Given the description of an element on the screen output the (x, y) to click on. 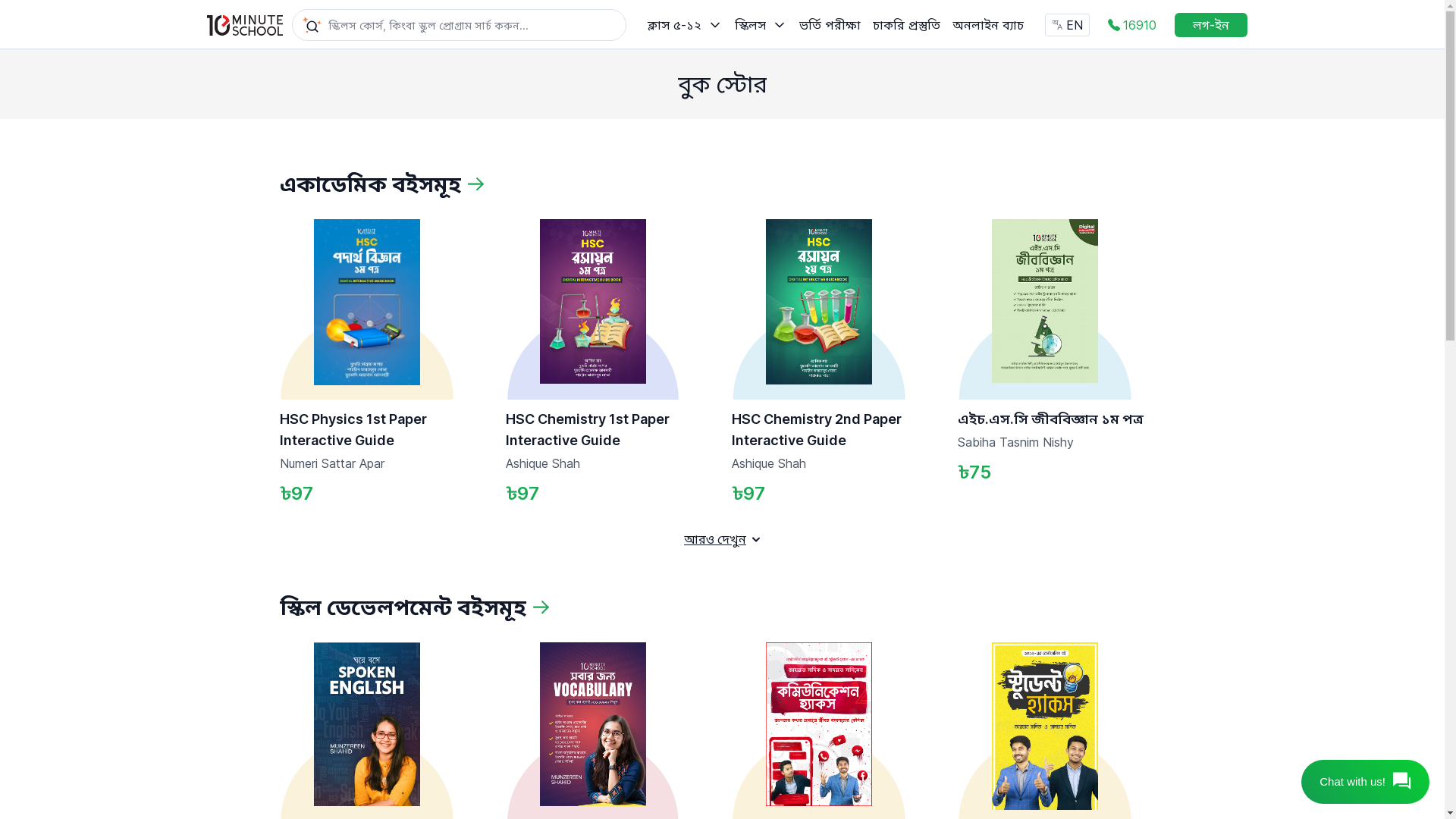
16910 Element type: text (1131, 24)
